Given the description of an element on the screen output the (x, y) to click on. 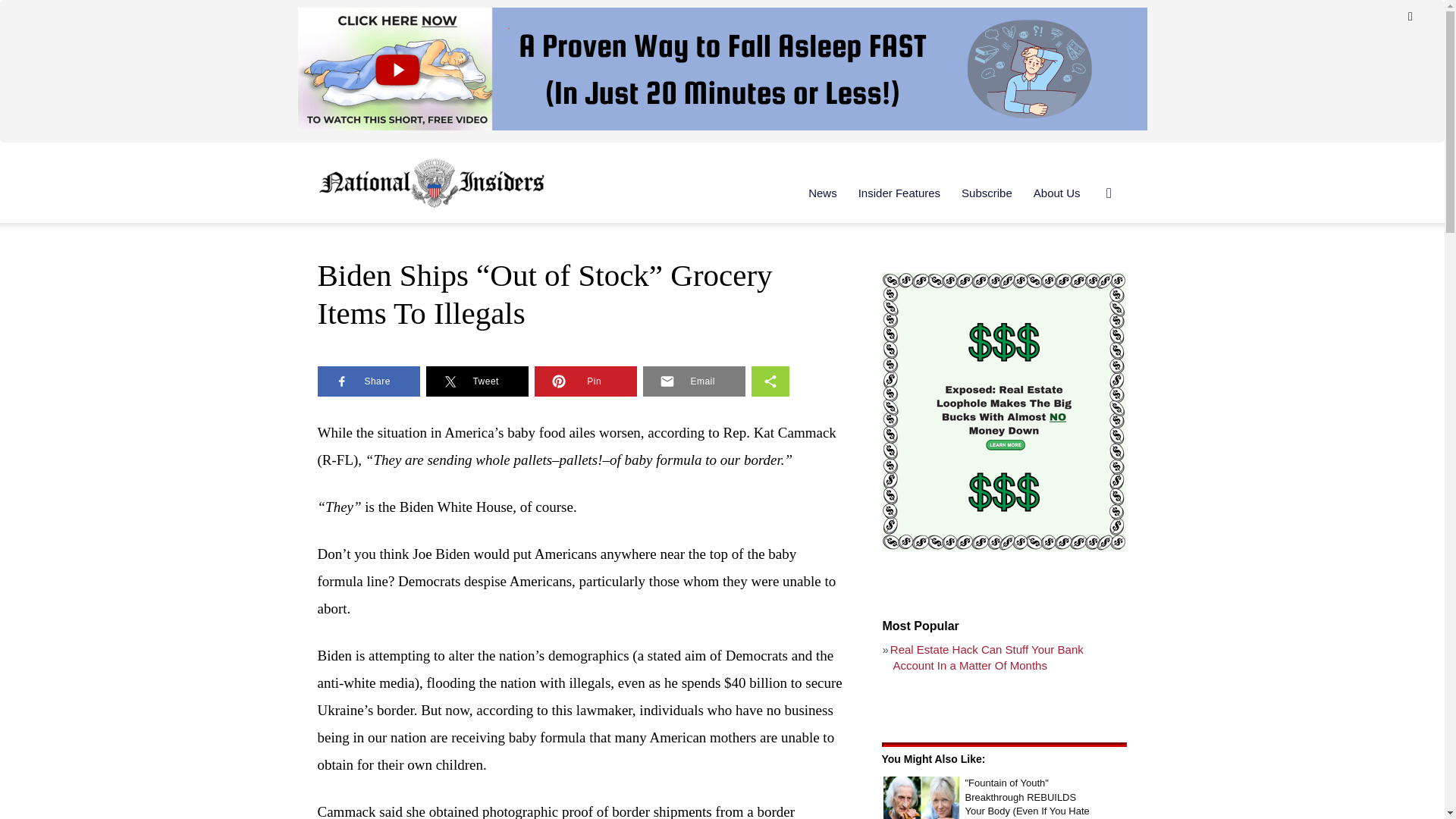
About Us (1056, 192)
National Insiders (430, 182)
Subscribe (986, 192)
News (822, 192)
Search (1085, 265)
National Insiders (430, 182)
Insider Features (898, 192)
